Given the description of an element on the screen output the (x, y) to click on. 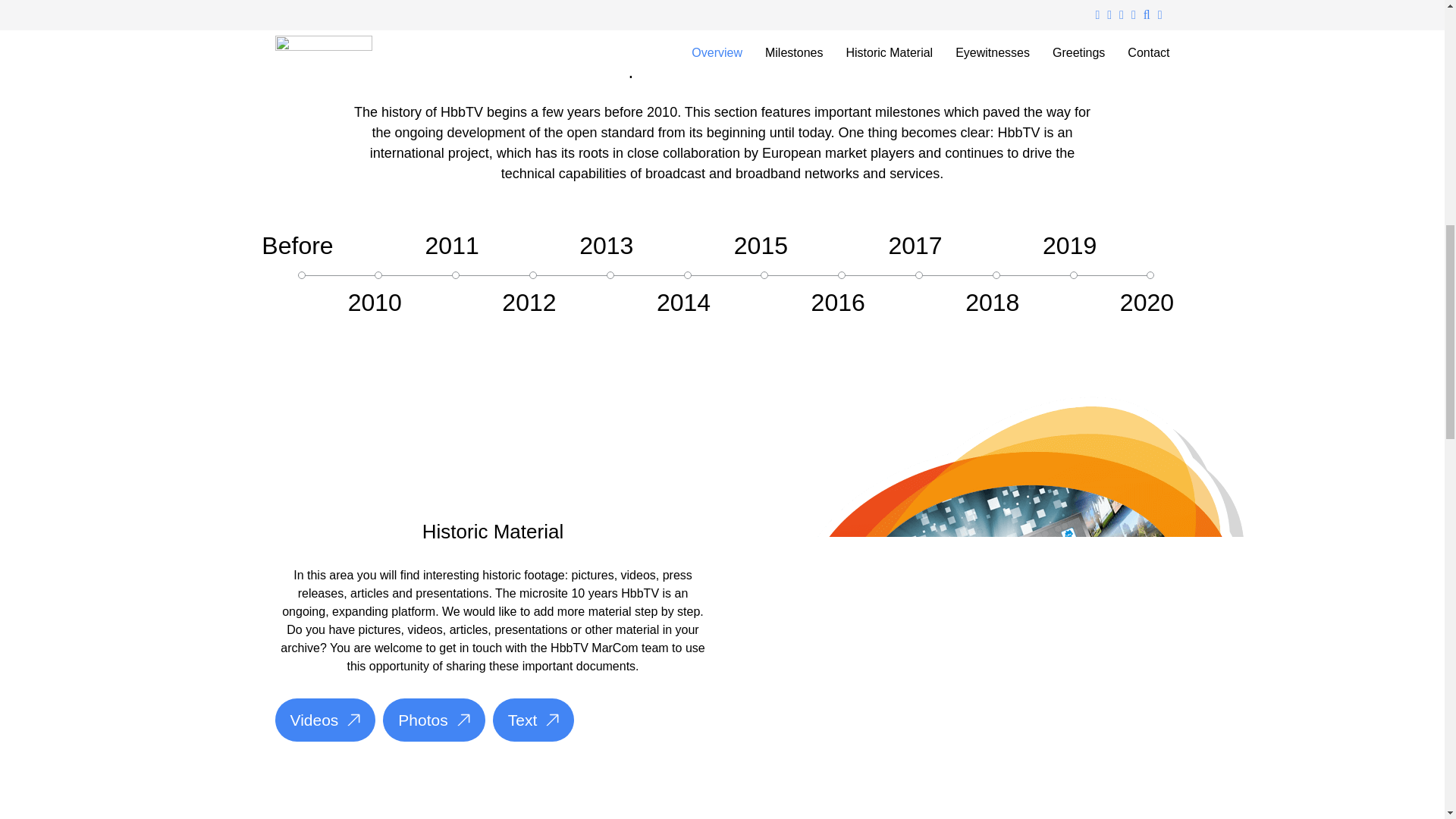
2013 (606, 245)
2018 (992, 302)
2012 (529, 302)
Text (534, 720)
Before (297, 245)
2016 (837, 302)
2014 (683, 302)
Videos (325, 720)
2011 (452, 245)
2019 (1069, 245)
